Given the description of an element on the screen output the (x, y) to click on. 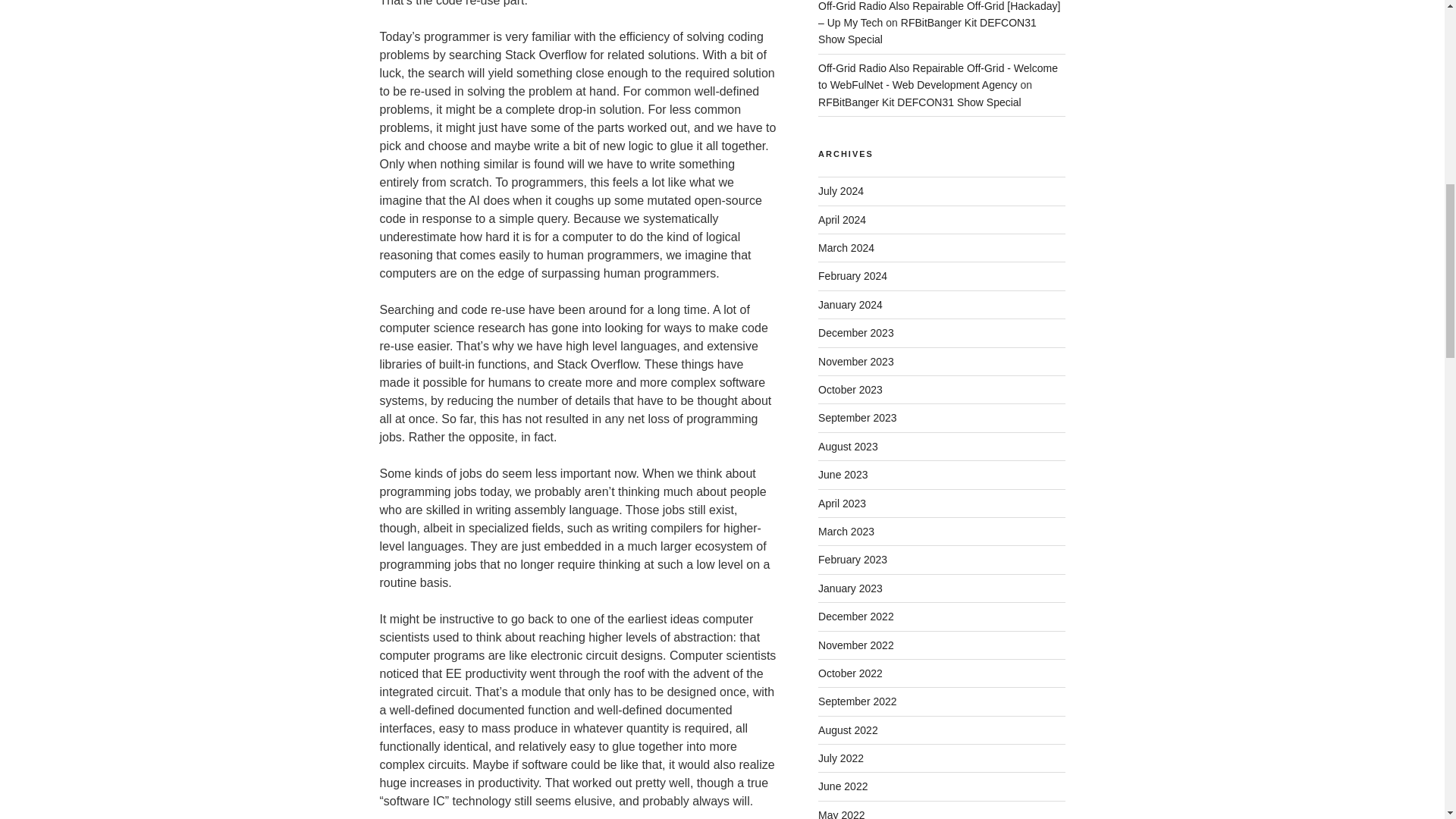
January 2024 (850, 304)
November 2023 (855, 361)
April 2024 (842, 219)
July 2024 (840, 191)
December 2023 (855, 332)
RFBitBanger Kit DEFCON31 Show Special (927, 30)
February 2024 (852, 275)
March 2024 (846, 247)
RFBitBanger Kit DEFCON31 Show Special (920, 101)
